Given the description of an element on the screen output the (x, y) to click on. 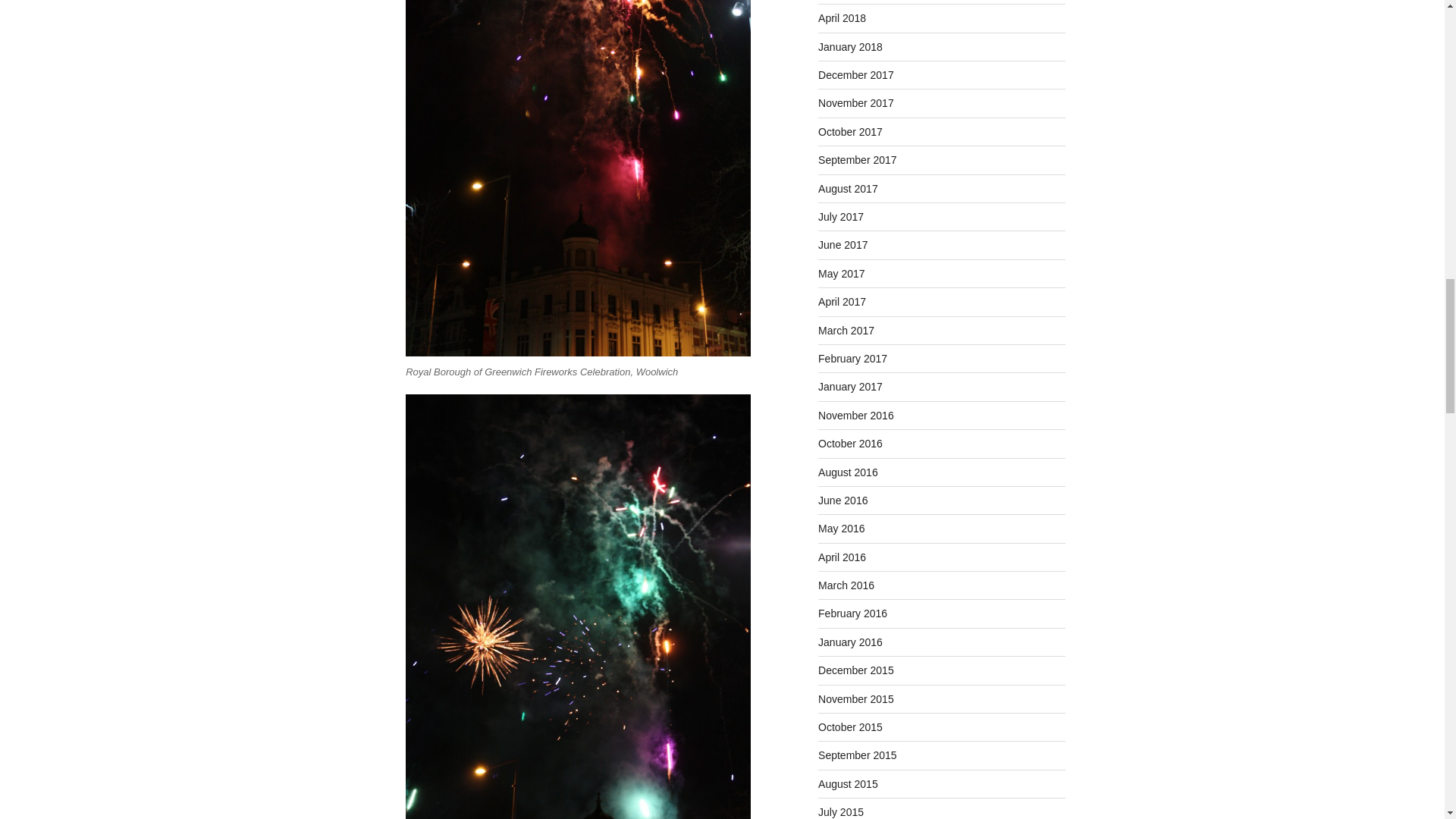
Royal Borough of Greenwich Fireworks Celebration, Woolwich (578, 178)
